Given the description of an element on the screen output the (x, y) to click on. 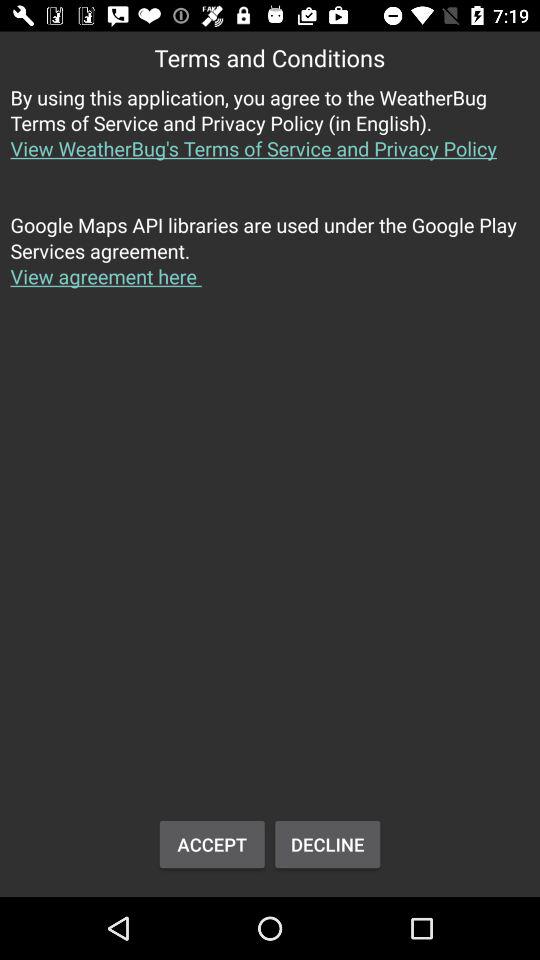
choose item below the by using this icon (269, 262)
